Given the description of an element on the screen output the (x, y) to click on. 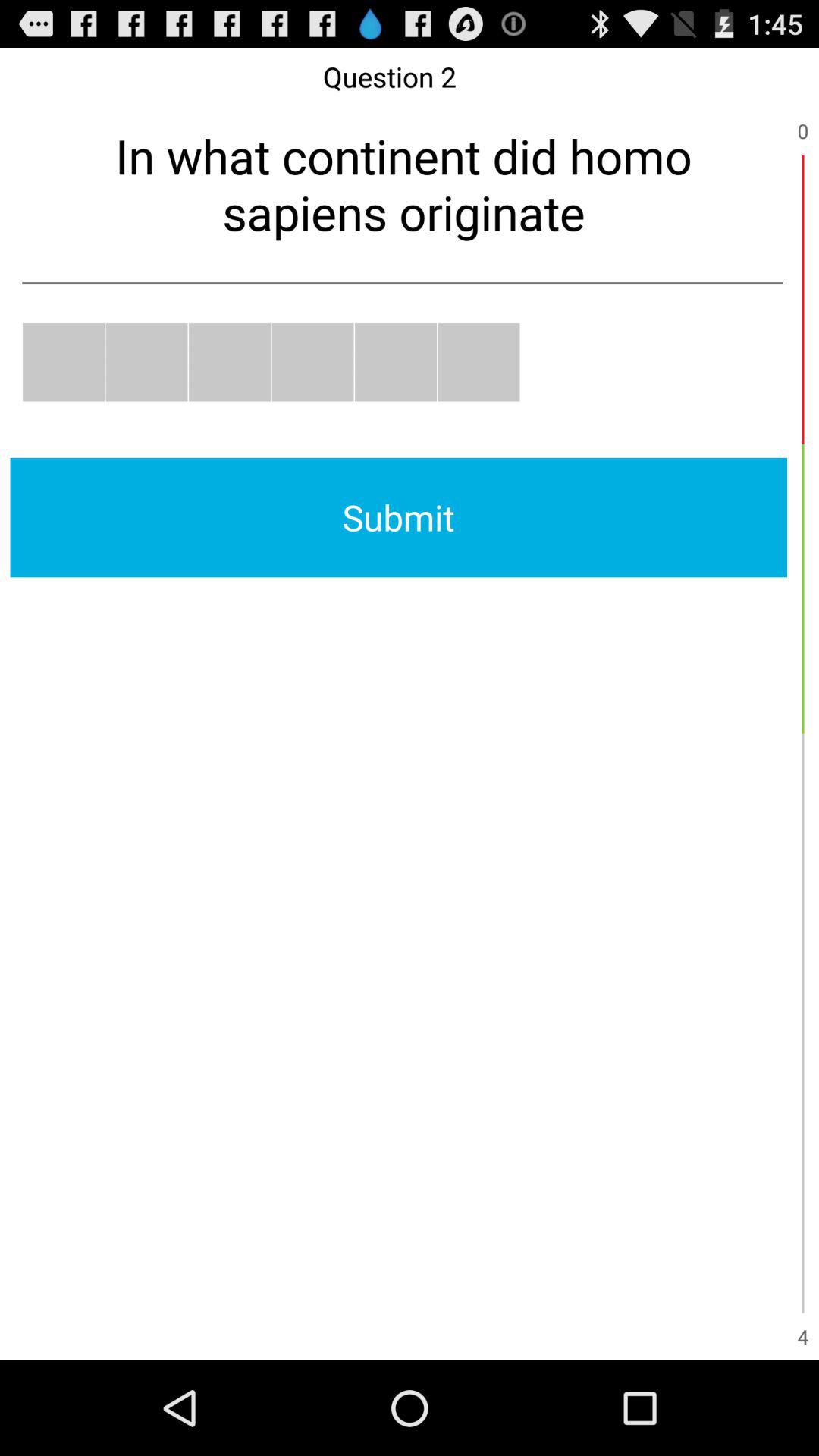
tap icon above submit (478, 362)
